Given the description of an element on the screen output the (x, y) to click on. 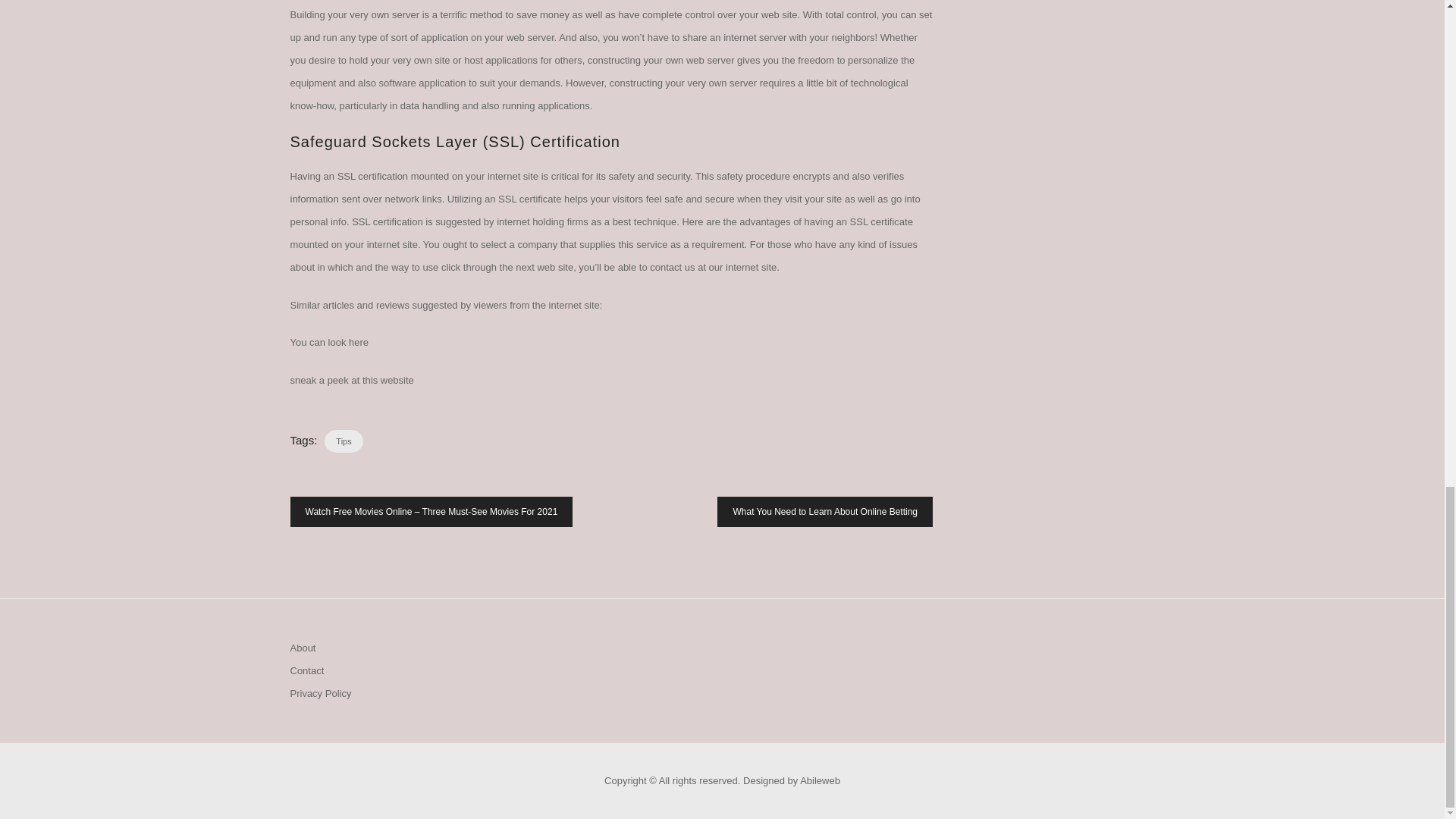
Privacy Policy (319, 693)
Contact (306, 670)
Tips (343, 440)
sneak a peek at this website (351, 379)
About (302, 647)
You can look here (328, 342)
Designed by Abileweb (791, 780)
click through the next web site (507, 266)
What You Need to Learn About Online Betting (825, 511)
